Given the description of an element on the screen output the (x, y) to click on. 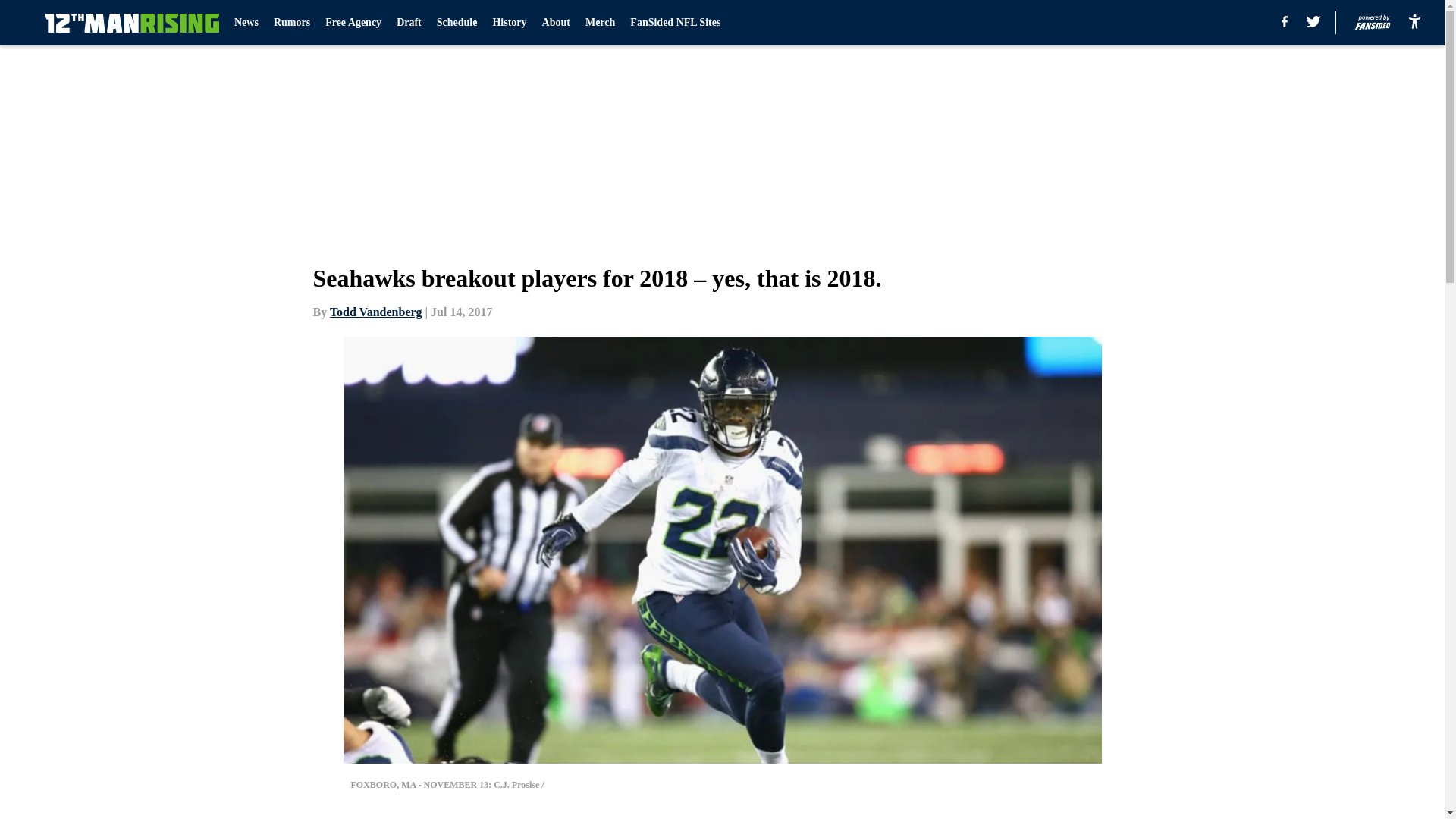
Todd Vandenberg (376, 311)
About (555, 22)
History (508, 22)
Free Agency (352, 22)
Rumors (291, 22)
News (246, 22)
FanSided NFL Sites (675, 22)
Schedule (456, 22)
Draft (409, 22)
Merch (599, 22)
